Given the description of an element on the screen output the (x, y) to click on. 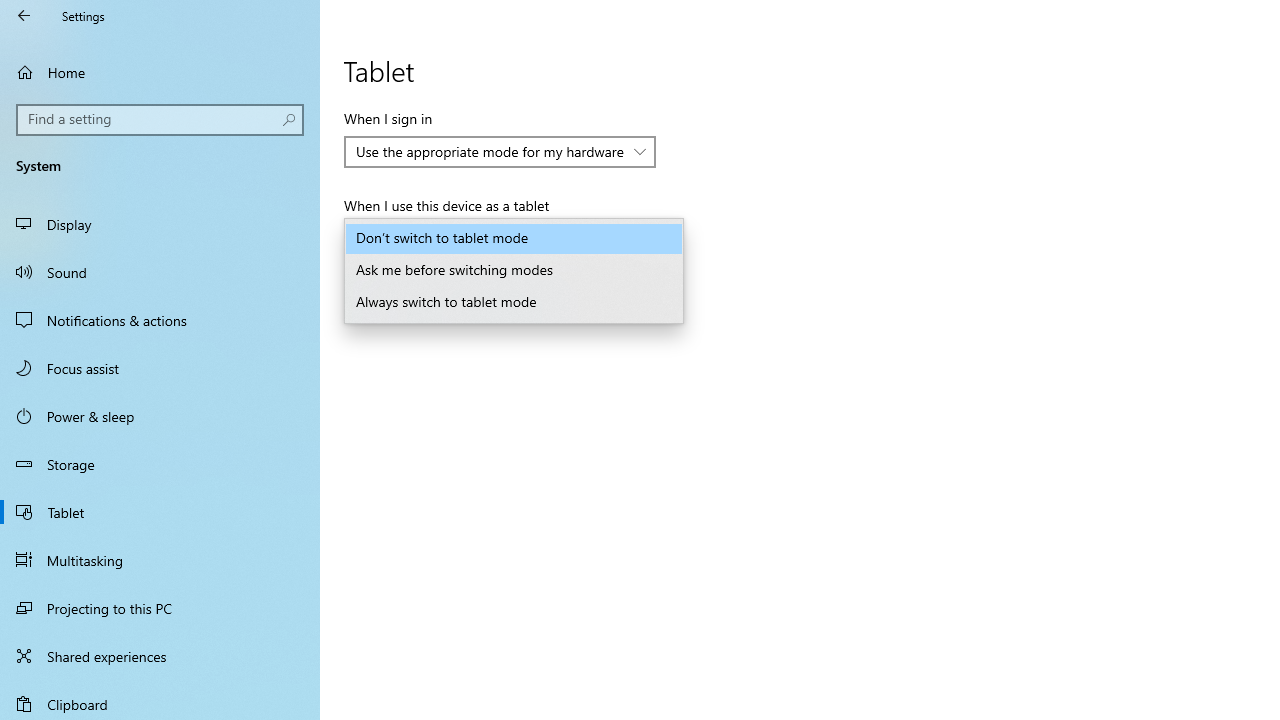
Search box, Find a setting (160, 119)
Home (160, 71)
Notifications & actions (160, 319)
When I use this device as a tablet (513, 238)
Focus assist (160, 367)
